Given the description of an element on the screen output the (x, y) to click on. 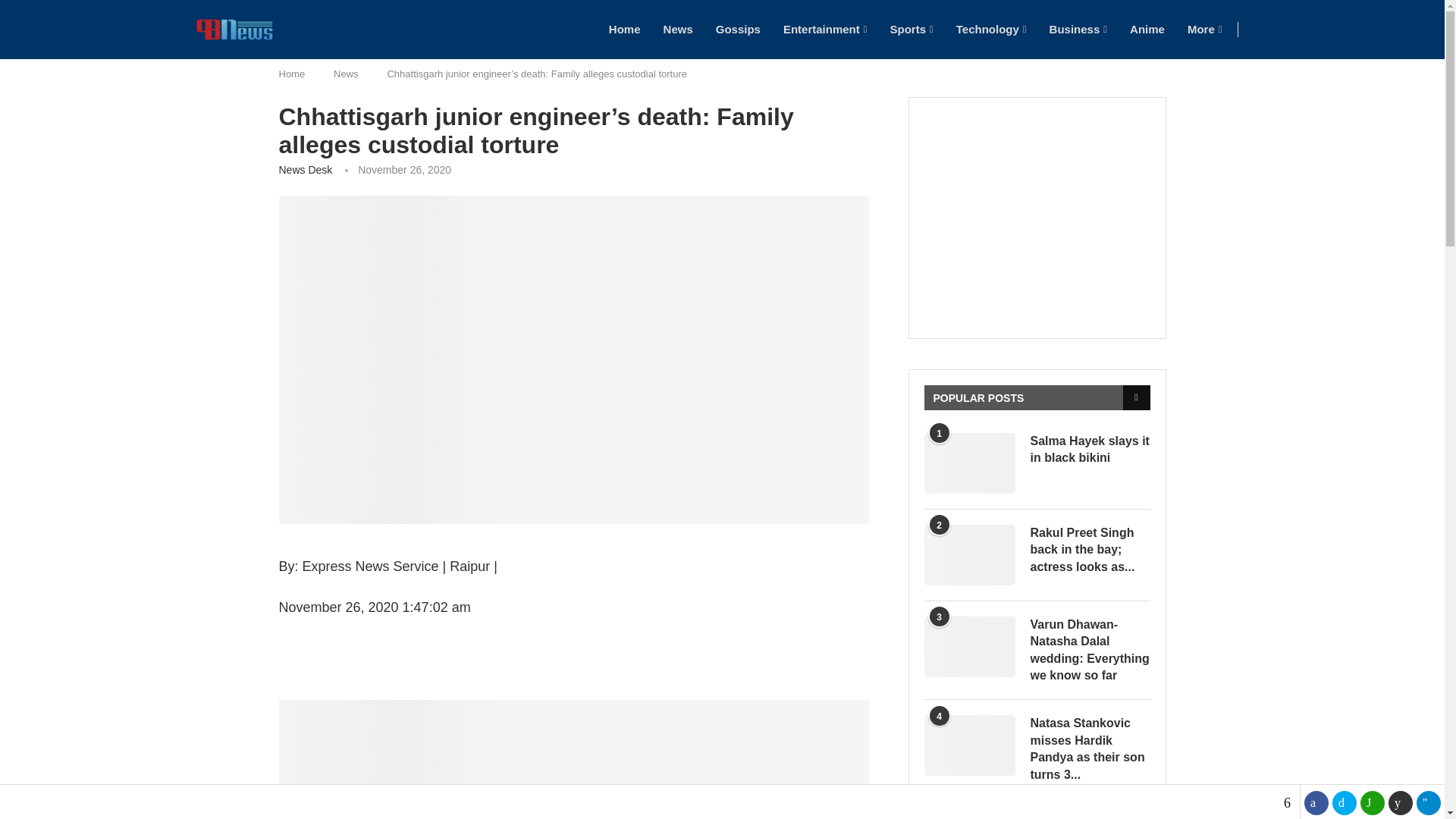
Entertainment (825, 29)
Gossips (738, 29)
News (678, 29)
Salma Hayek slays it in black bikini (1089, 449)
Home (624, 29)
Salma Hayek slays it in black bikini (968, 463)
Sports (911, 29)
